Given the description of an element on the screen output the (x, y) to click on. 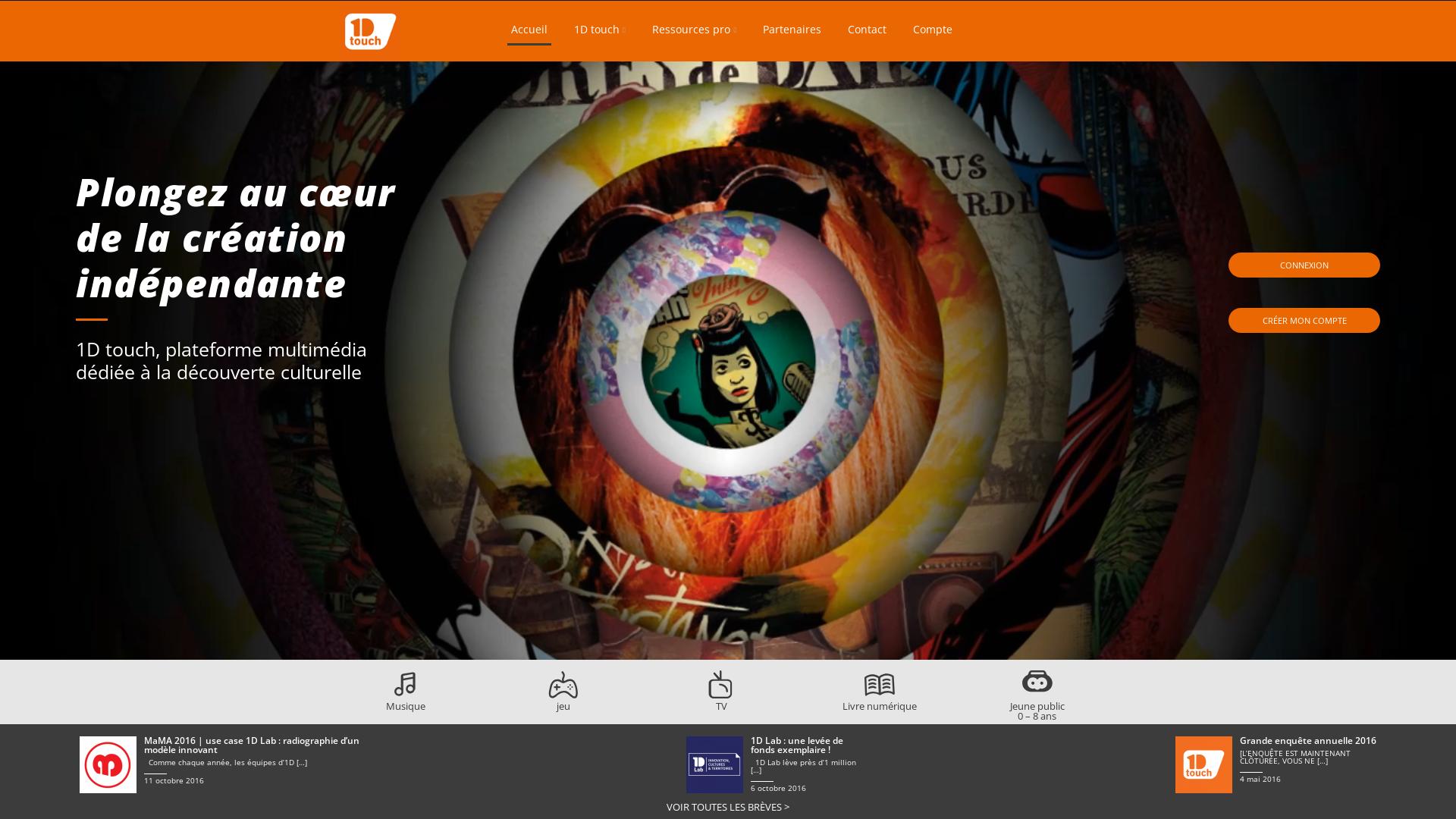
Twitter Element type: text (1062, 28)
1D touch Element type: text (599, 31)
Compte Element type: text (932, 31)
Musique Element type: text (405, 700)
Youtube Element type: text (1077, 28)
Facebook Element type: text (1051, 28)
Aller au contenu principal Element type: text (364, 0)
Instagram Element type: text (1093, 28)
Accueil Element type: text (529, 32)
Contact Element type: text (867, 31)
CONNEXION Element type: text (1304, 264)
Aller au contenu principal Element type: text (731, 11)
Ressources pro Element type: text (694, 31)
TV Element type: text (721, 700)
Partenaires Element type: text (792, 31)
jeu Element type: text (563, 700)
CONNEXION Element type: text (1304, 265)
Tumblr Element type: text (1108, 28)
